Given the description of an element on the screen output the (x, y) to click on. 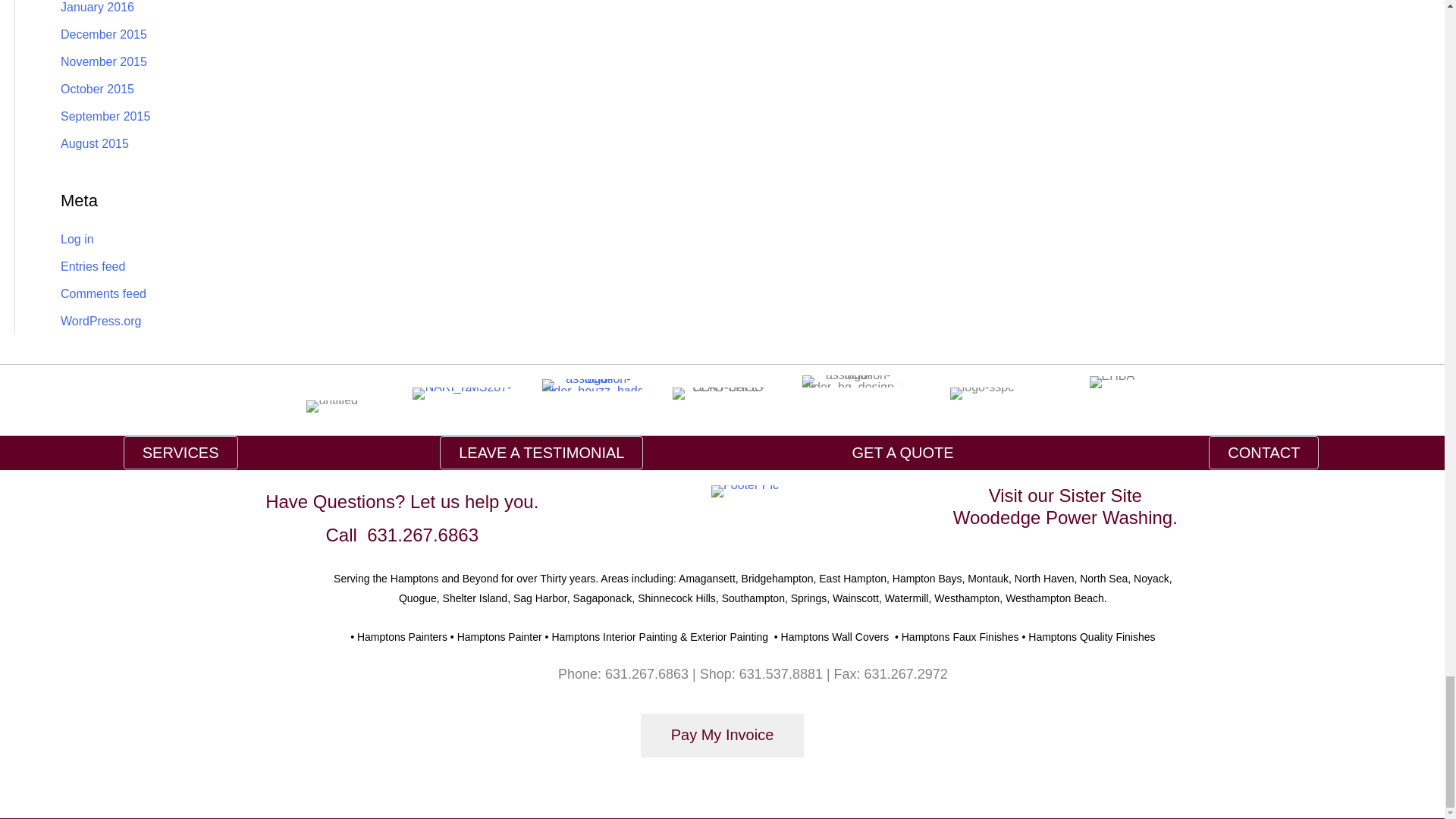
untitled (331, 406)
LEAD-SAFE-CERT-LOGO (721, 393)
Pay My Invoice (722, 734)
